Given the description of an element on the screen output the (x, y) to click on. 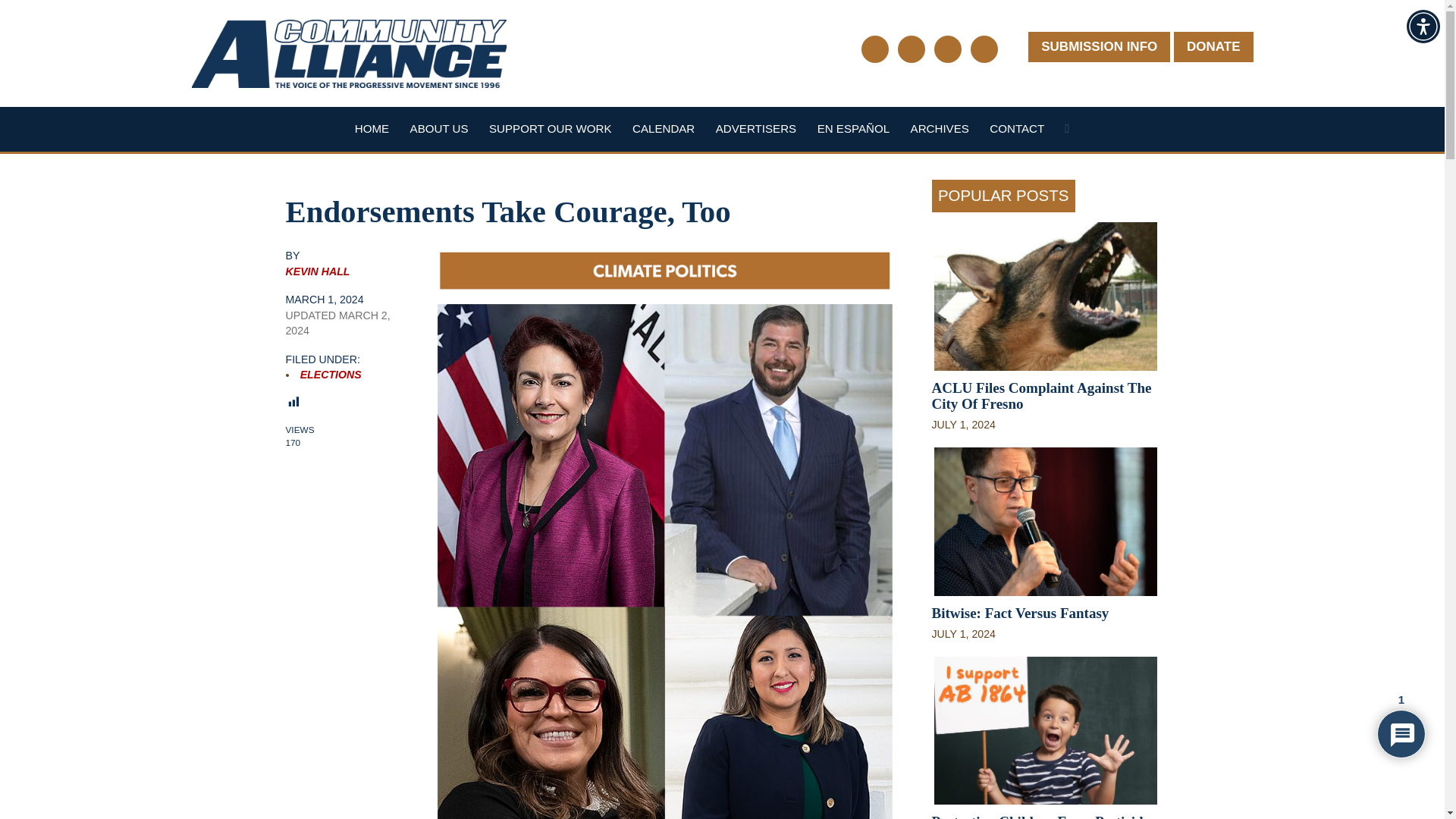
ARCHIVES (940, 128)
Accessibility Menu (1422, 26)
CONTACT (1016, 128)
Search (1066, 132)
Search (1066, 132)
DONATE (1213, 47)
KEVIN HALL (317, 271)
ADVERTISERS (756, 128)
SUBMISSION INFO (1098, 47)
CALENDAR (662, 128)
HOME (371, 128)
ELECTIONS (330, 374)
SUPPORT OUR WORK (550, 128)
Kevin Hall (317, 271)
